Given the description of an element on the screen output the (x, y) to click on. 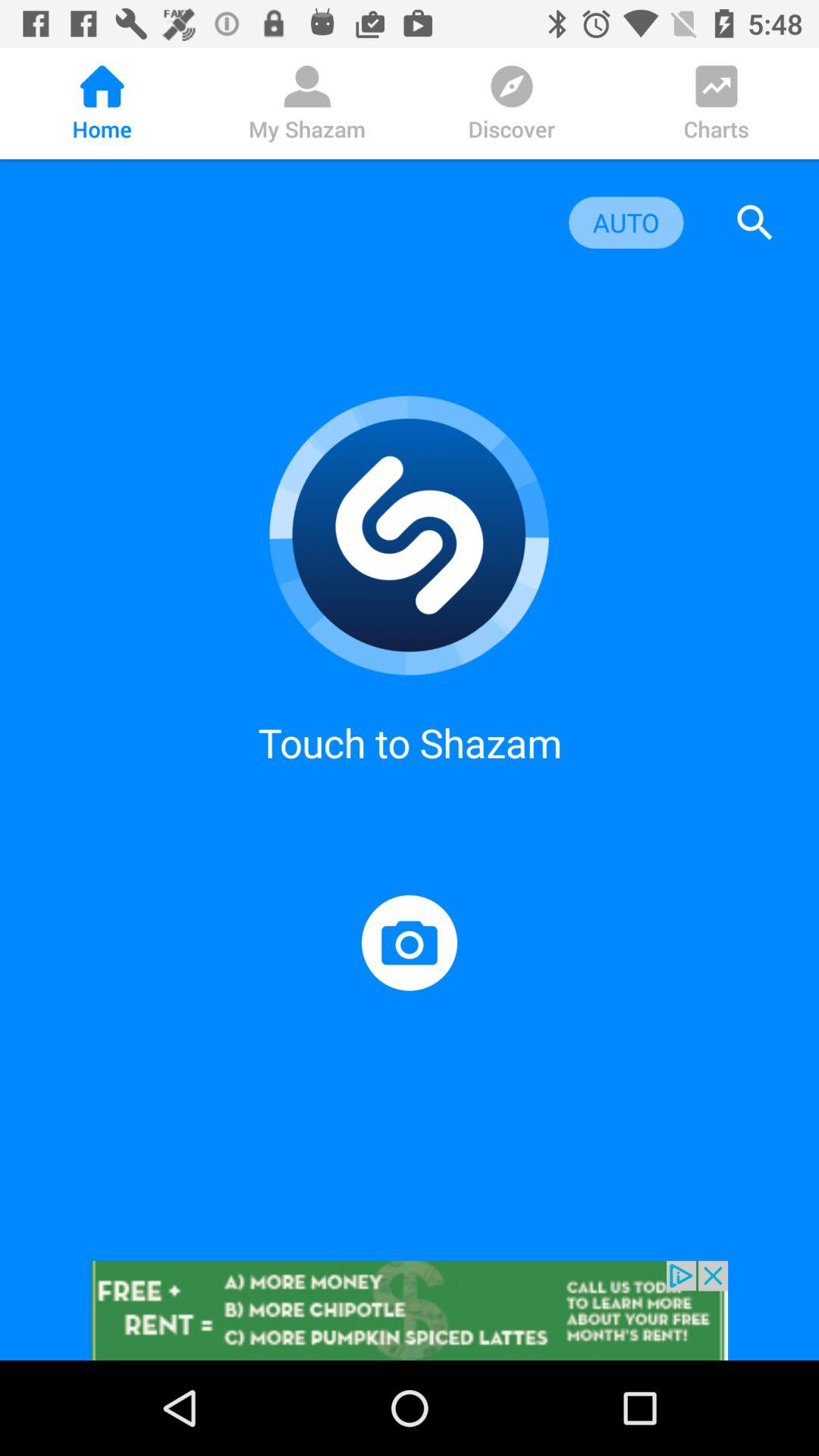
click on the advertisement (409, 1310)
